Given the description of an element on the screen output the (x, y) to click on. 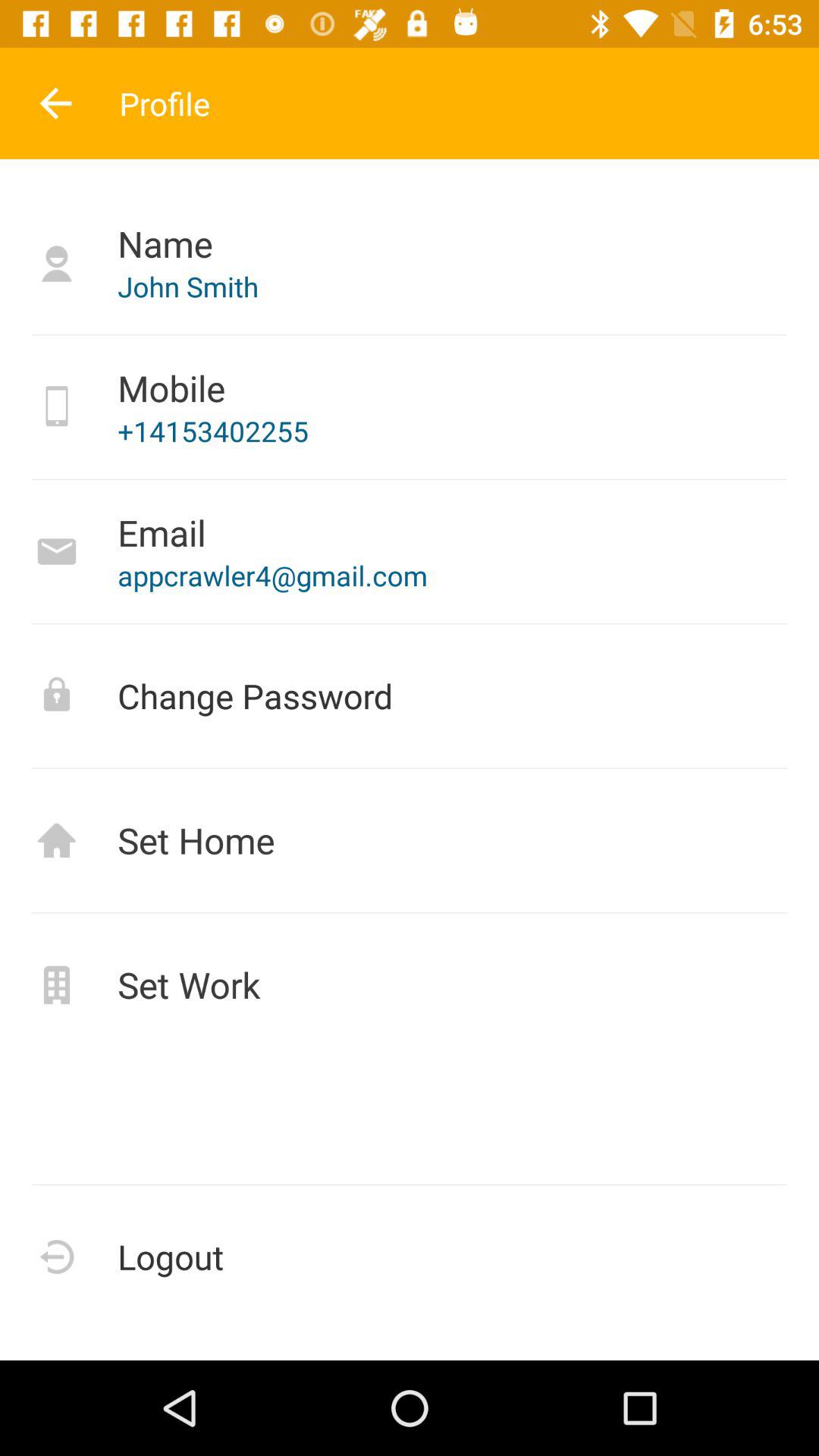
press the item above name item (55, 103)
